Given the description of an element on the screen output the (x, y) to click on. 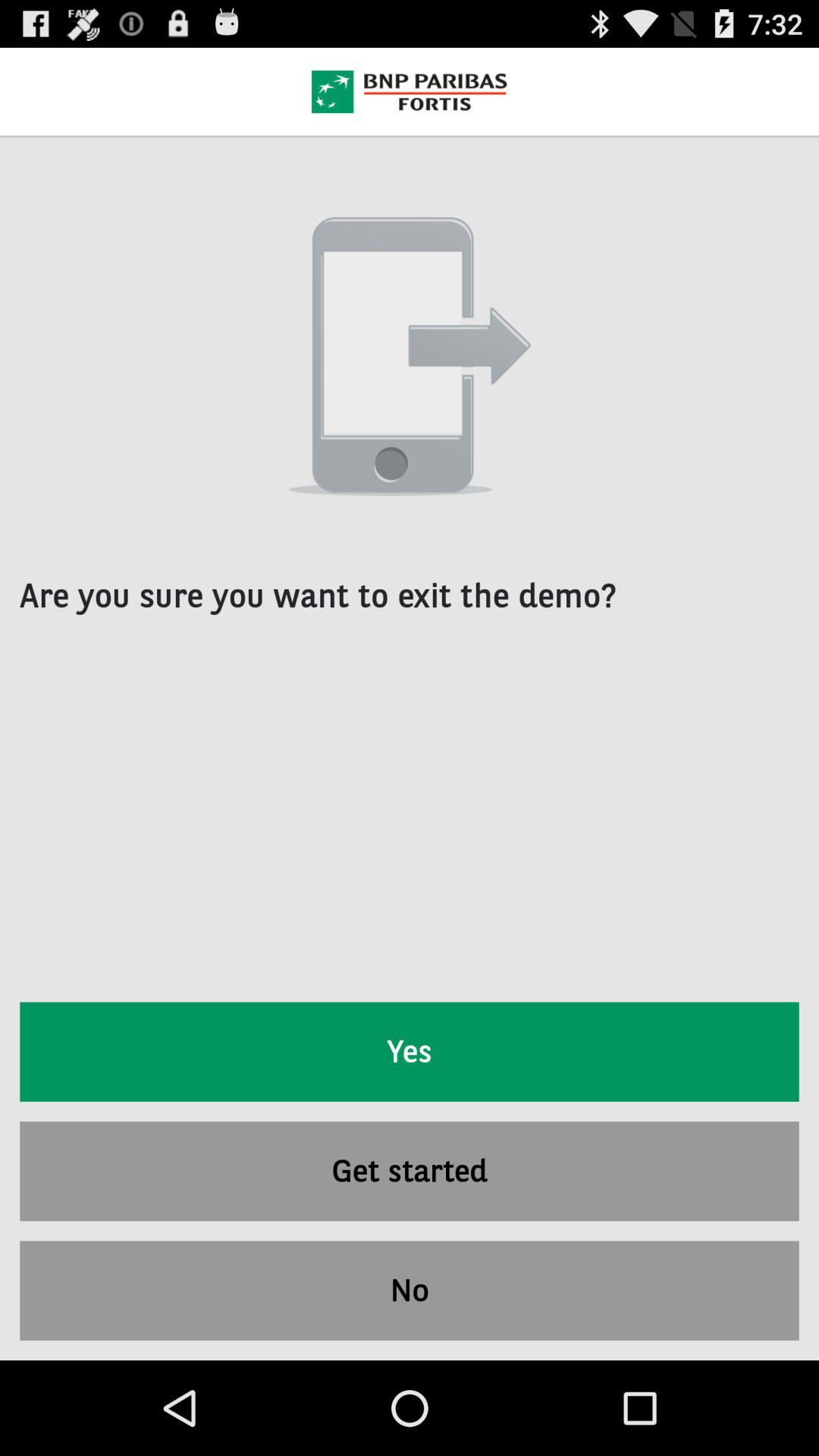
flip to no (409, 1290)
